Given the description of an element on the screen output the (x, y) to click on. 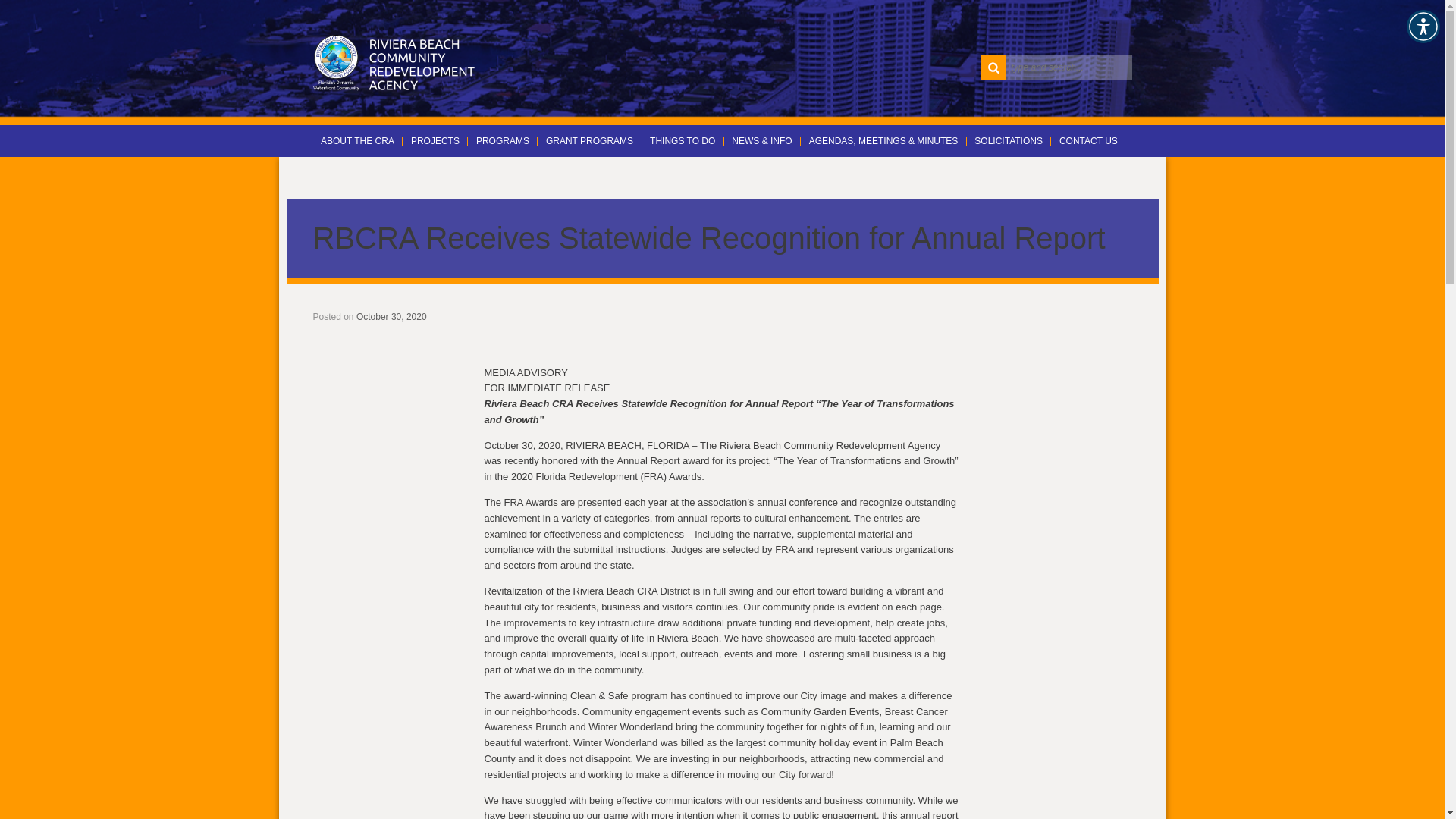
PROJECTS (435, 140)
Riviera Beach CRA (394, 62)
GRANT PROGRAMS (589, 140)
ABOUT THE CRA (358, 140)
Accessibility Menu (1422, 26)
6:58 pm (391, 317)
Search (993, 66)
Search (993, 66)
PROGRAMS (502, 140)
THINGS TO DO (682, 140)
